Given the description of an element on the screen output the (x, y) to click on. 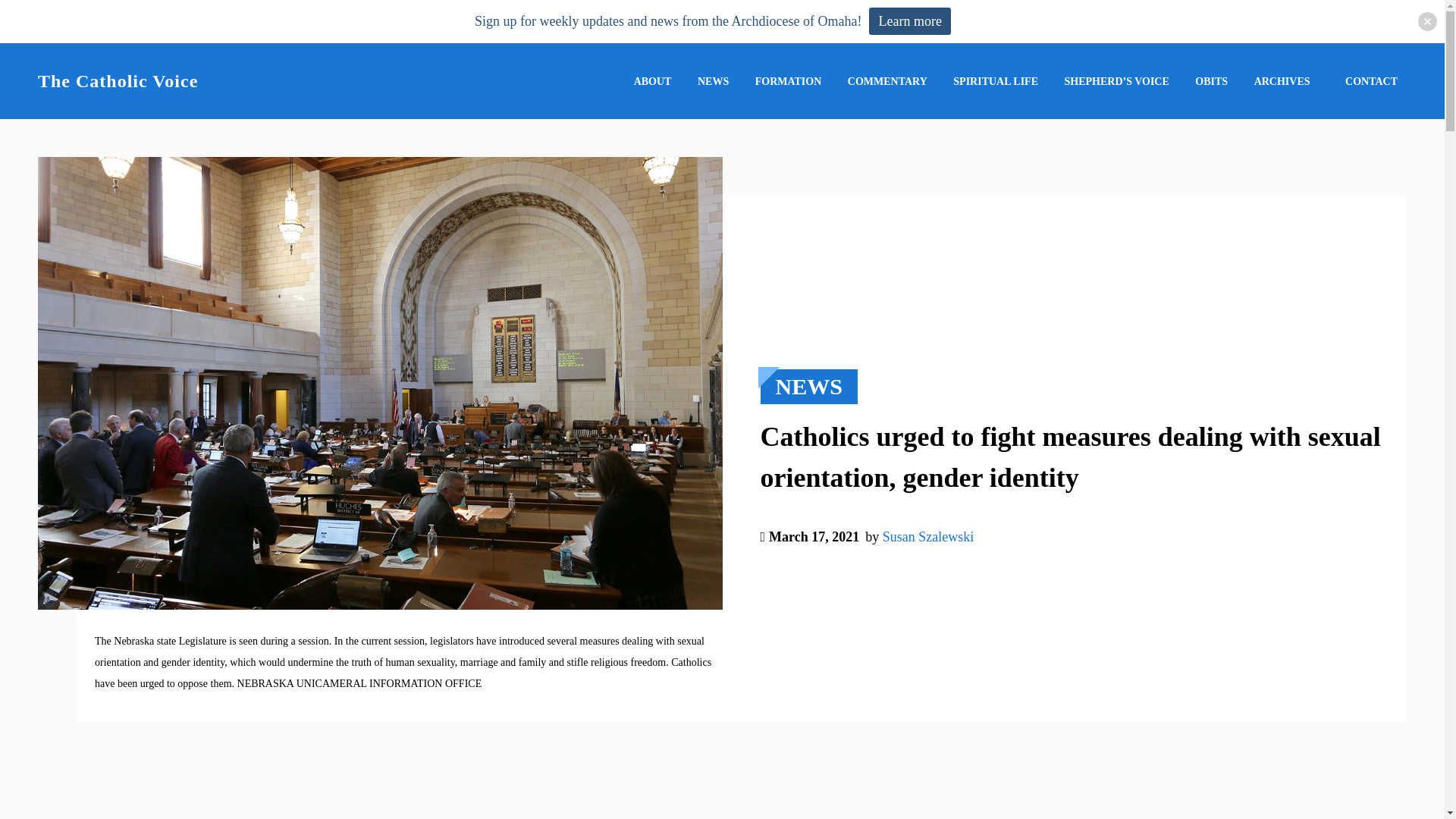
Learn more (909, 21)
FORMATION (788, 81)
COMMENTARY (887, 81)
OBITS (1211, 81)
Susan Szalewski (928, 559)
The Catholic Voice (117, 81)
SPIRITUAL LIFE (995, 81)
ARCHIVES (1281, 81)
ABOUT (652, 81)
Posts by Susan Szalewski (928, 536)
NEWS (713, 81)
CONTACT (1371, 81)
